Given the description of an element on the screen output the (x, y) to click on. 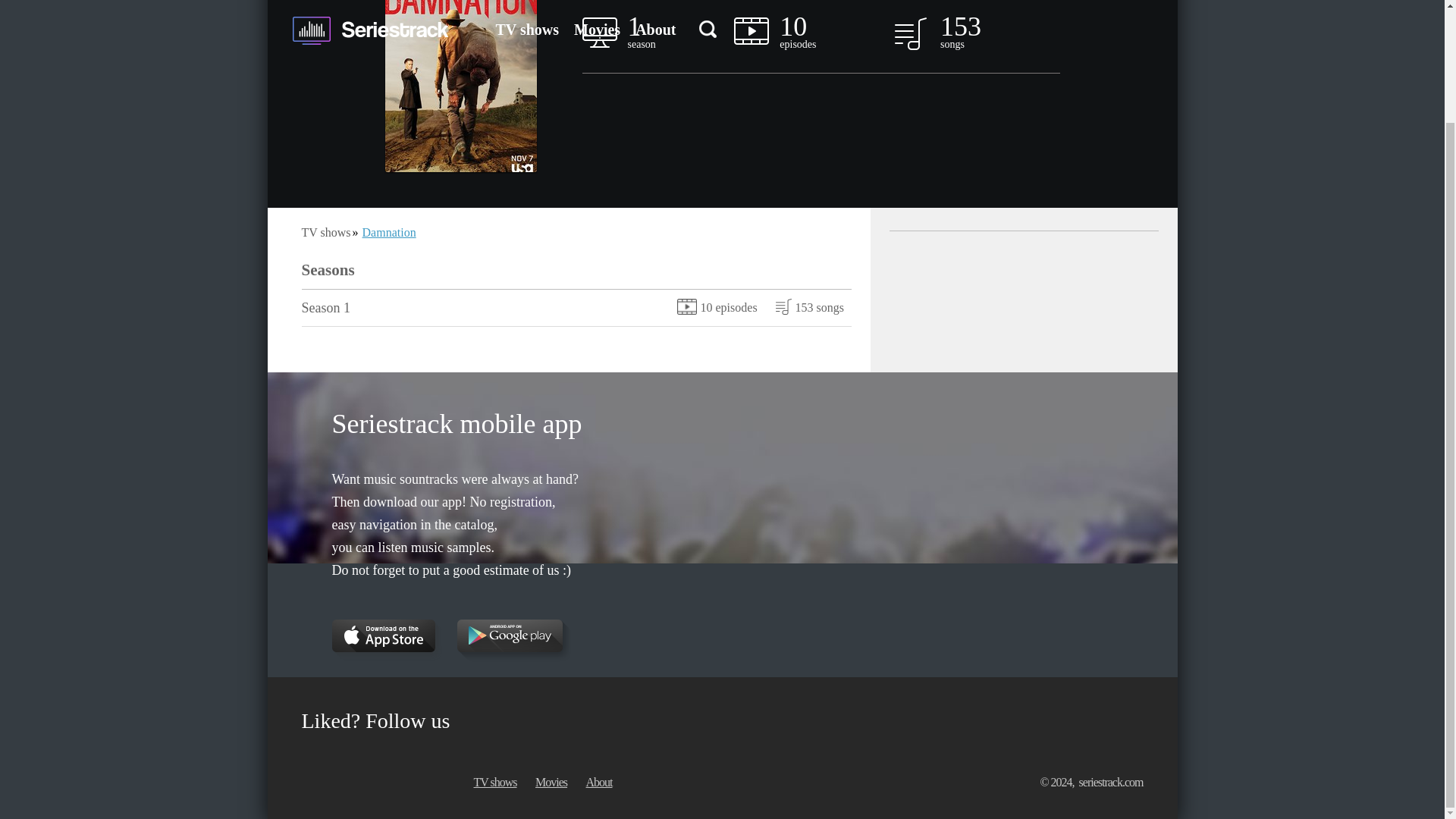
Damnation (389, 232)
Movies (551, 781)
About (579, 307)
TV shows (599, 781)
TV shows (494, 781)
